Given the description of an element on the screen output the (x, y) to click on. 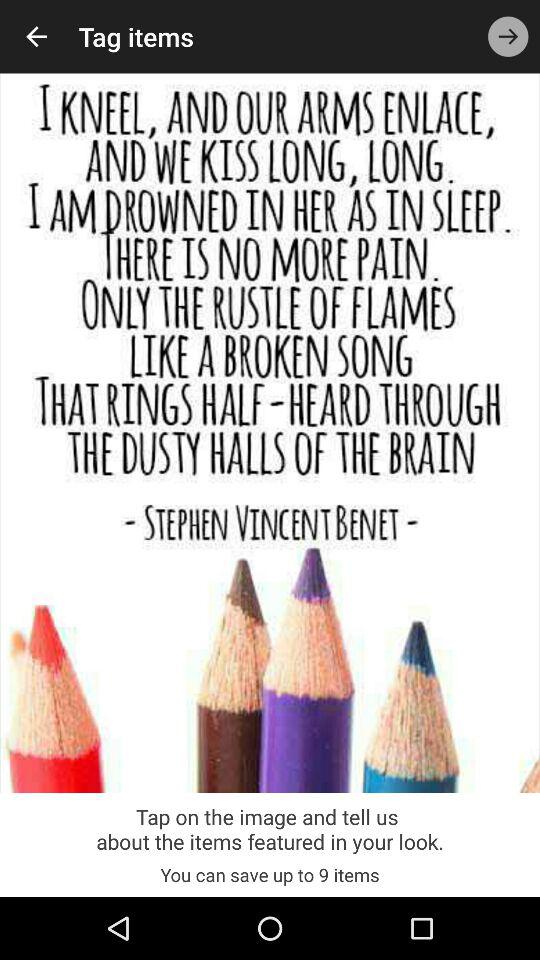
launch item to the left of the tag items item (36, 36)
